Given the description of an element on the screen output the (x, y) to click on. 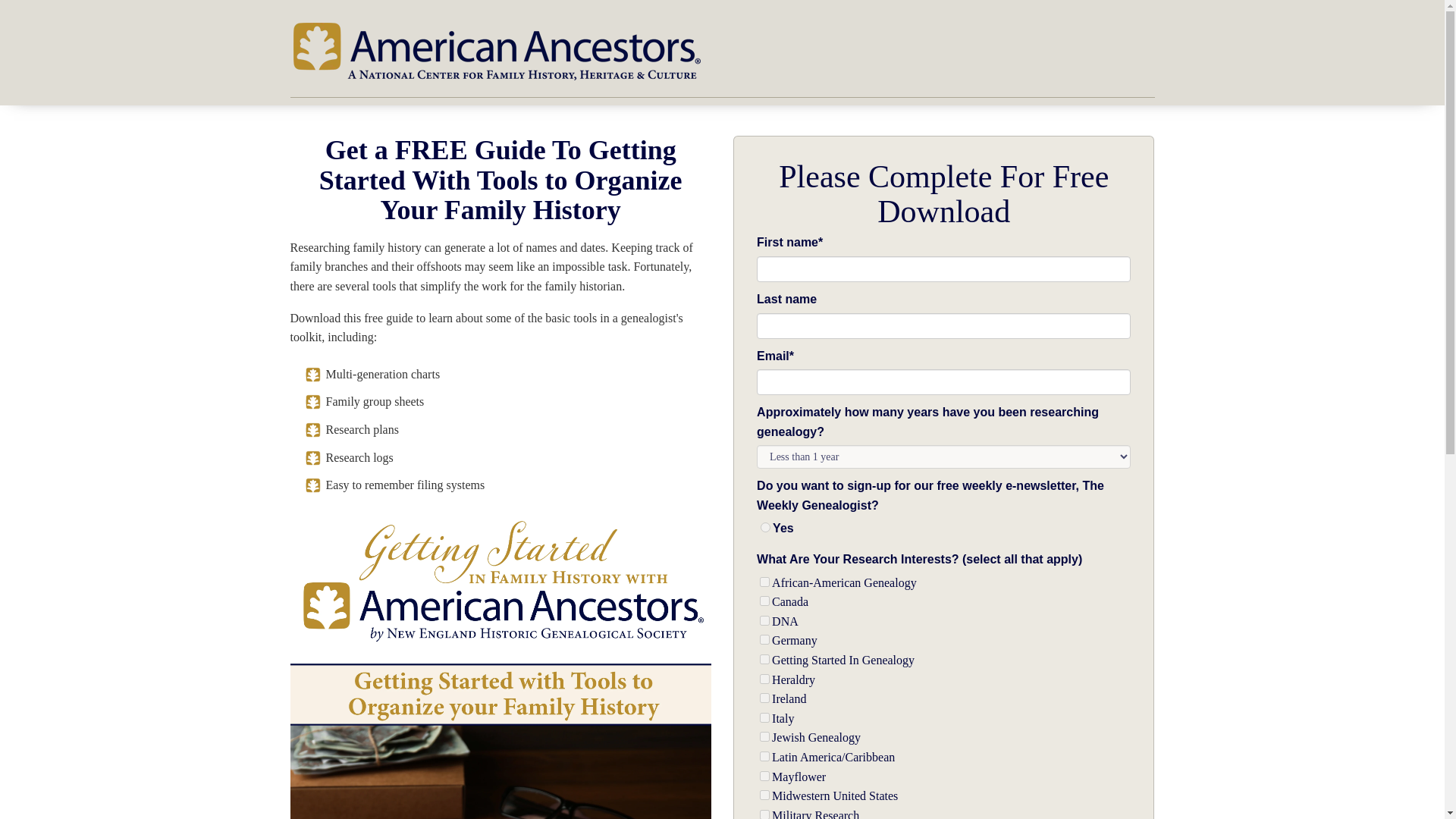
Irish (765, 697)
Italy (765, 717)
Mayflower (765, 776)
Getting Started In Genealogy (765, 659)
African-American (765, 582)
Midwestern United States (765, 795)
Canada (765, 601)
Jewish Genealogy (765, 737)
Yes (765, 527)
Heraldry (765, 678)
DNA (765, 620)
Germany (765, 639)
Military Research (765, 814)
